Given the description of an element on the screen output the (x, y) to click on. 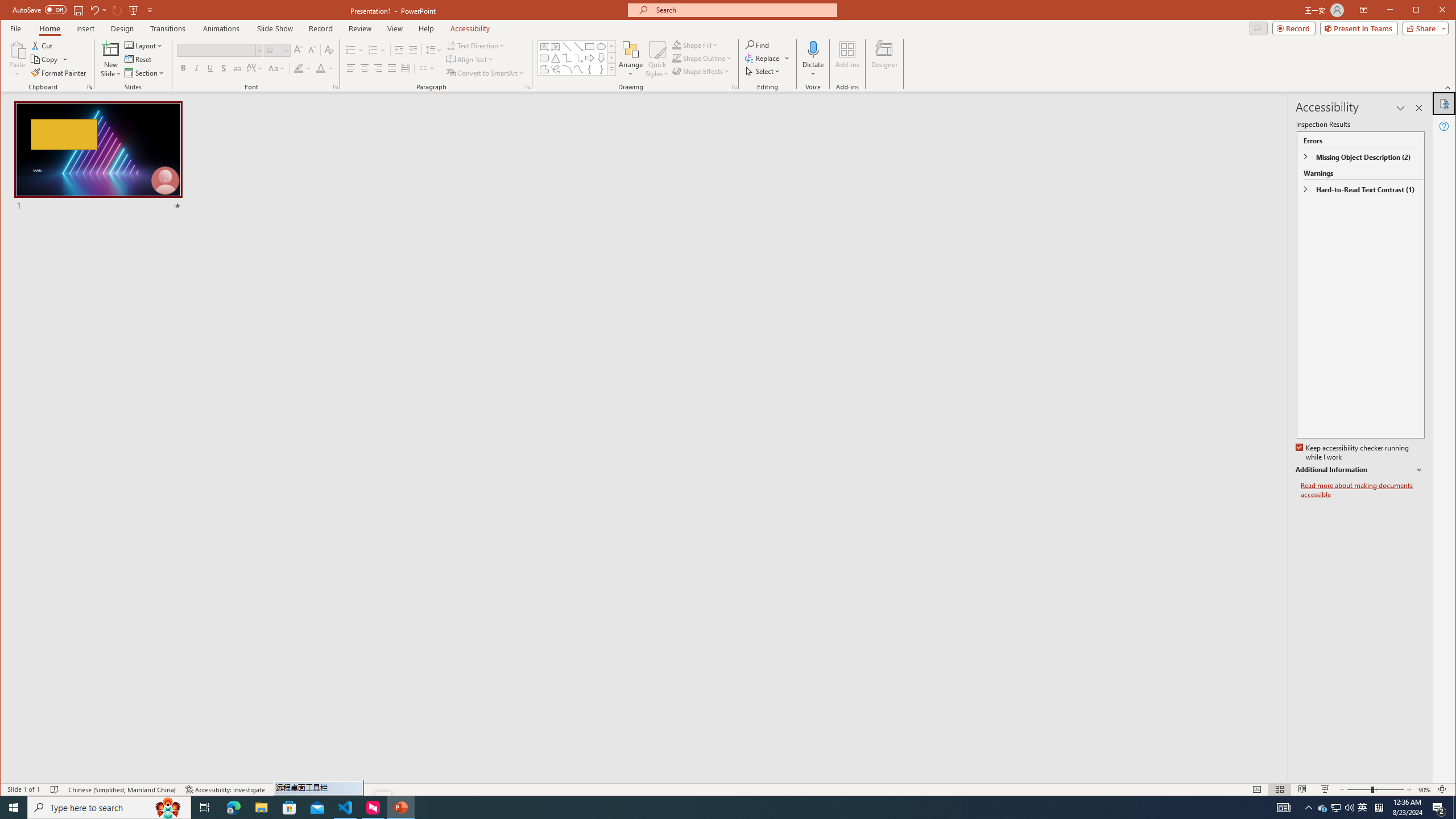
Spell Check No Errors (55, 789)
Line (567, 46)
Shadow (224, 68)
Notification Chevron (1308, 807)
Increase Font Size (297, 49)
Align Text (470, 59)
Arrow: Right (589, 57)
Paragraph... (527, 86)
Bullets (355, 49)
Running applications (700, 807)
More Options (812, 69)
Visual Studio Code - 1 running window (345, 807)
Line Spacing (433, 49)
Dictate (812, 48)
Microsoft Edge (233, 807)
